Given the description of an element on the screen output the (x, y) to click on. 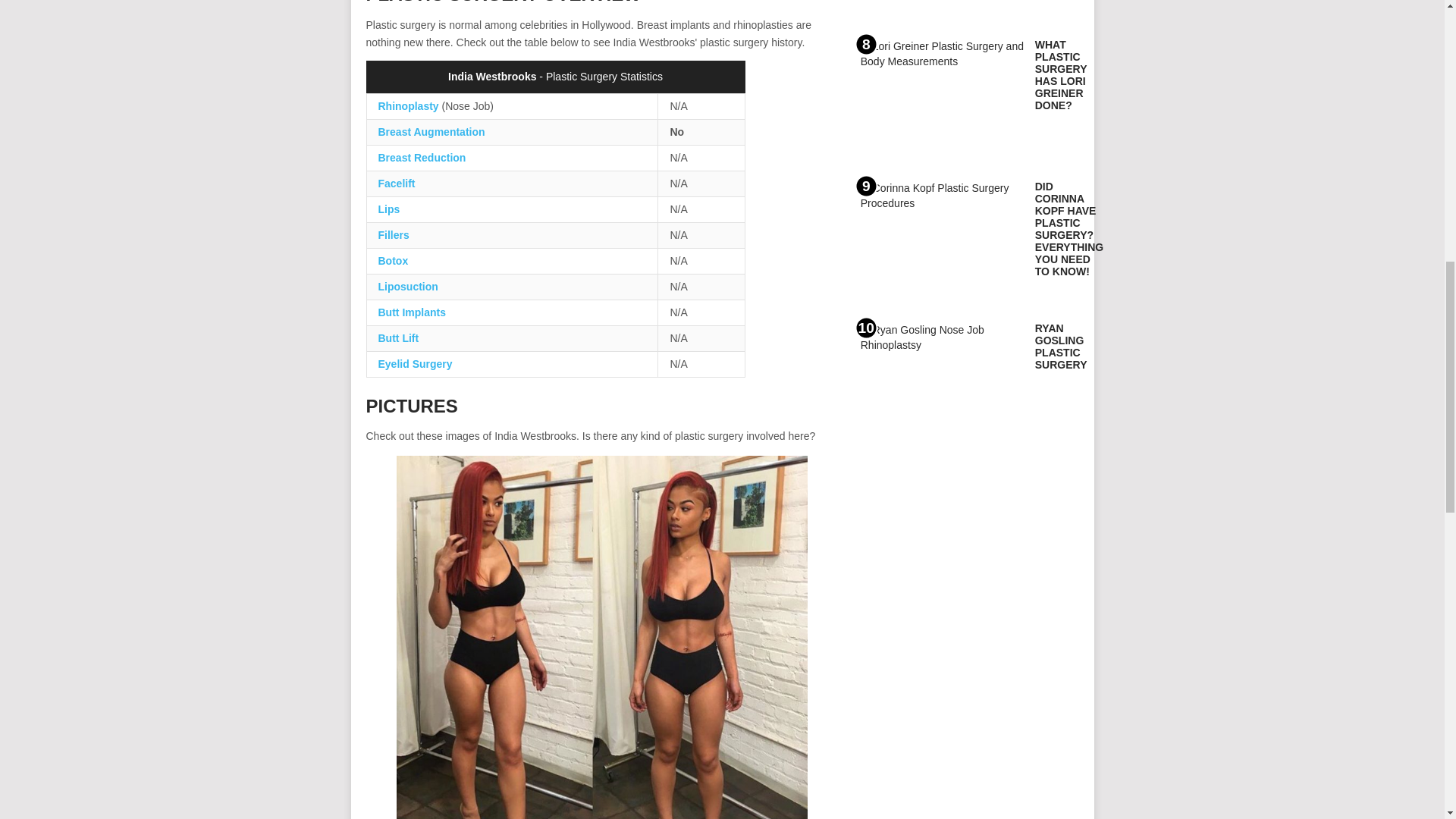
Butt Lift (398, 337)
Breast Reduction (421, 157)
Liposuction (407, 286)
Butt Implants (411, 312)
Fillers (393, 234)
Lips (387, 209)
Eyelid Surgery (414, 363)
Facelift (395, 183)
Breast Augmentation (430, 132)
Botox (392, 260)
Rhinoplasty (407, 105)
